Given the description of an element on the screen output the (x, y) to click on. 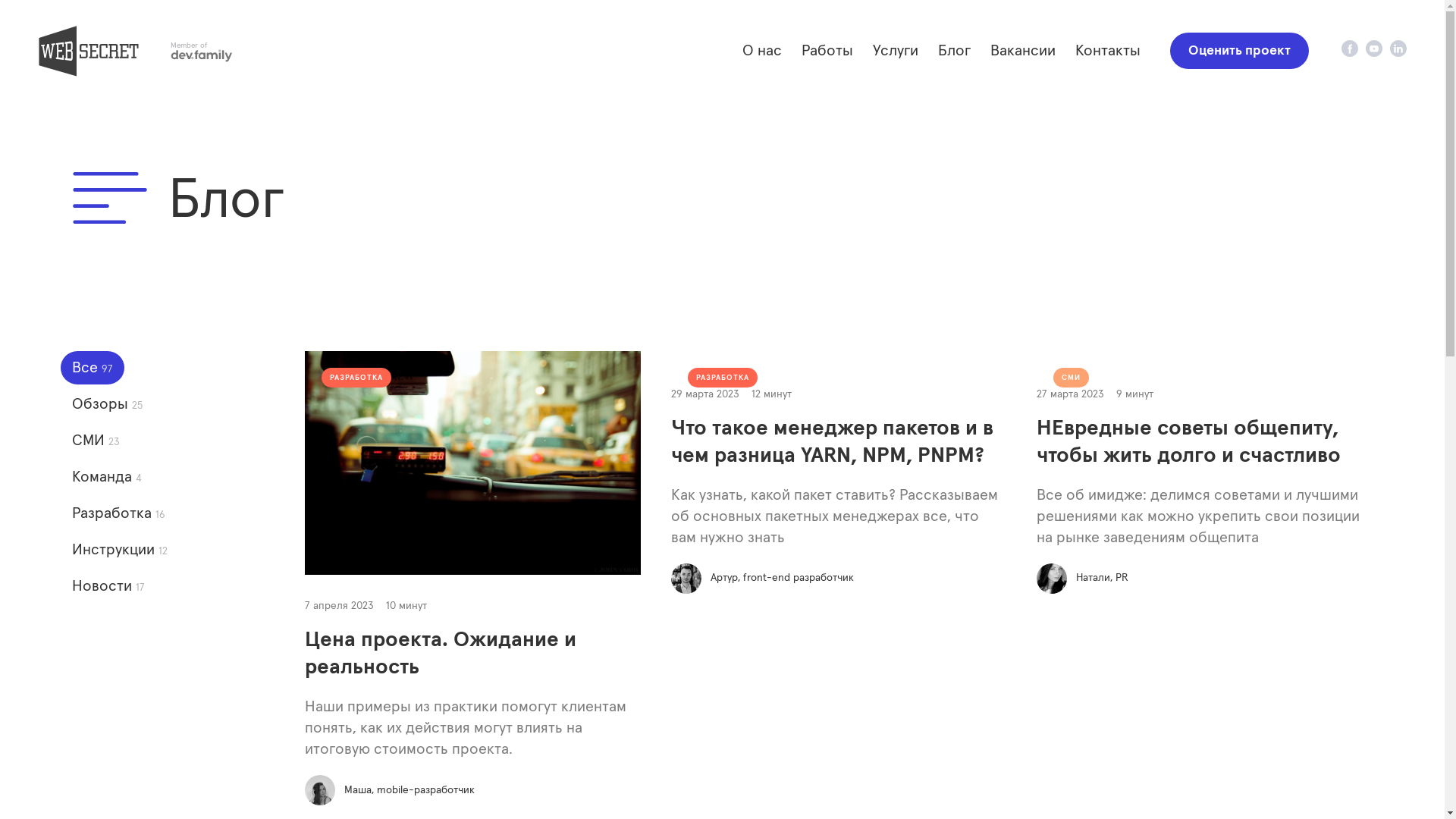
Member of Element type: text (201, 50)
